Given the description of an element on the screen output the (x, y) to click on. 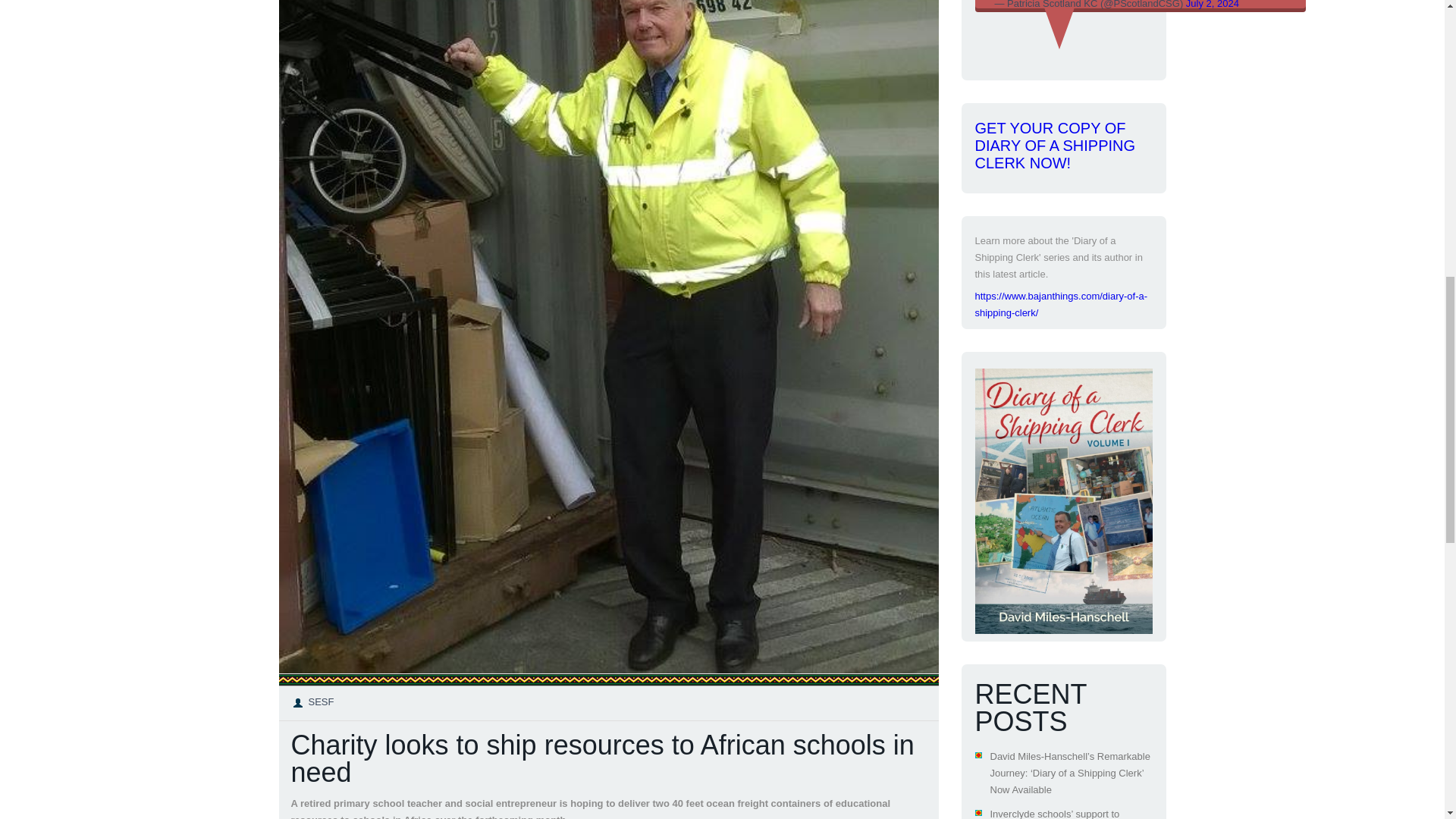
July 2, 2024 (1212, 4)
GET YOUR COPY OF DIARY OF A SHIPPING CLERK NOW! (1055, 145)
SESF (320, 701)
Posts by SESF (320, 701)
